Given the description of an element on the screen output the (x, y) to click on. 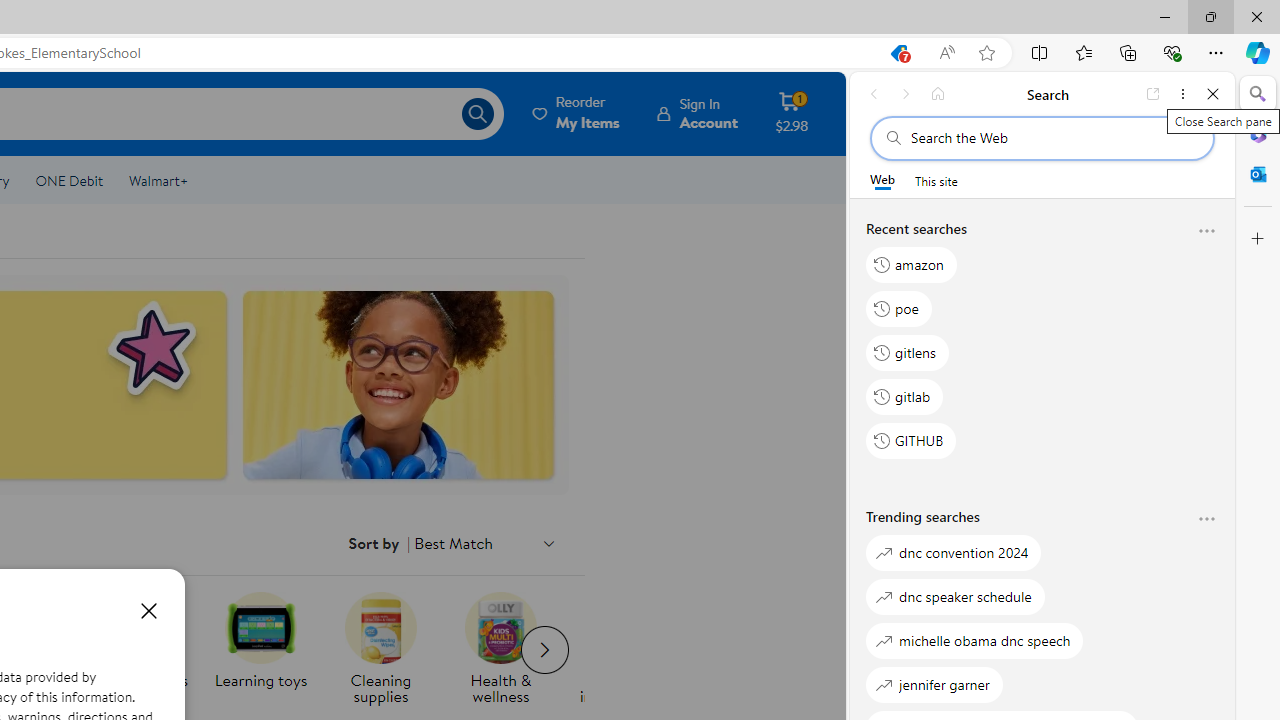
gitlens (907, 352)
This site scope (936, 180)
Close dialog (148, 610)
dnc speaker schedule (955, 596)
